Given the description of an element on the screen output the (x, y) to click on. 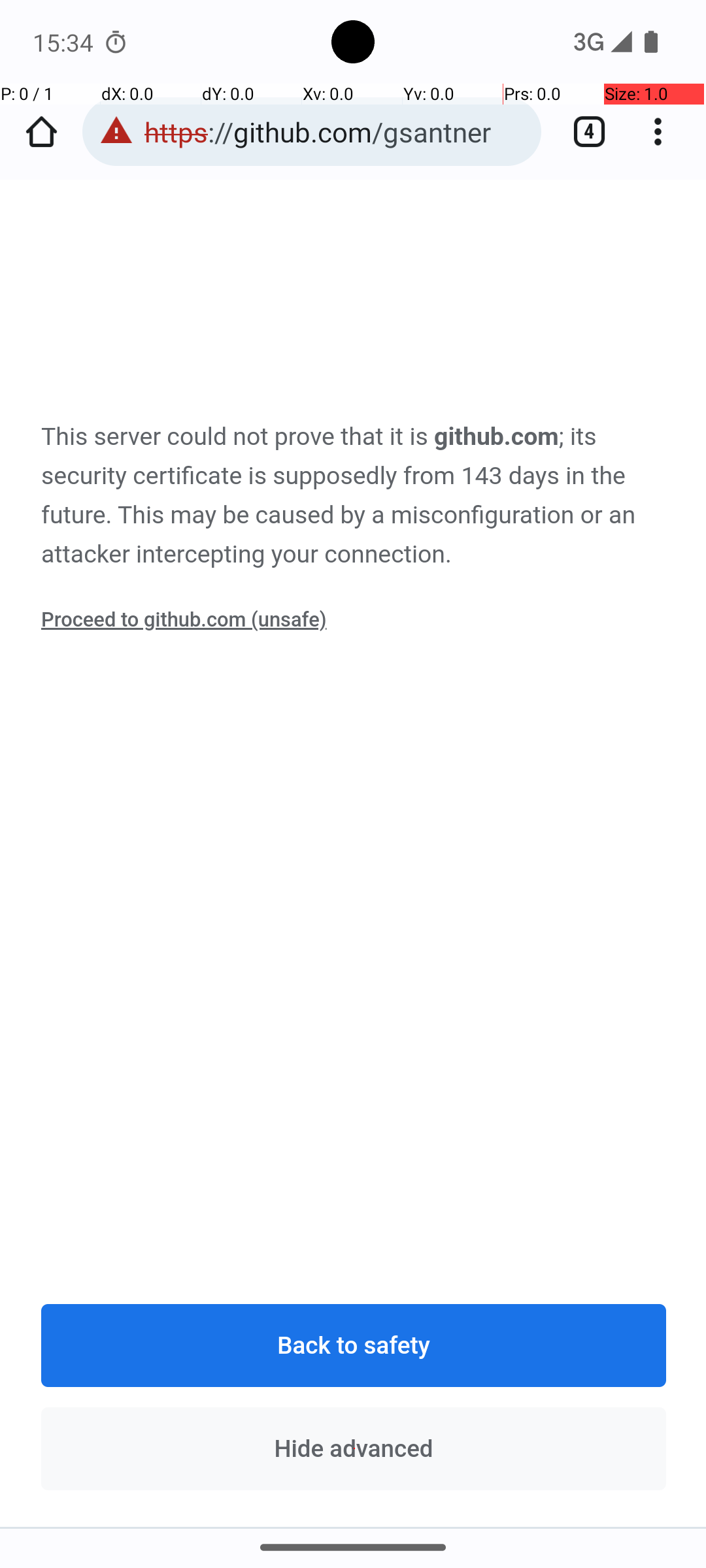
https://github.com/gsantner Element type: android.widget.EditText (335, 131)
Hide advanced Element type: android.widget.Button (354, 1448)
This server could not prove that it is github.com; its security certificate is supposedly from 143 days in the future. This may be caused by a misconfiguration or an attacker intercepting your connection. Element type: android.widget.TextView (354, 495)
Proceed to github.com (unsafe) Element type: android.view.View (184, 619)
